Given the description of an element on the screen output the (x, y) to click on. 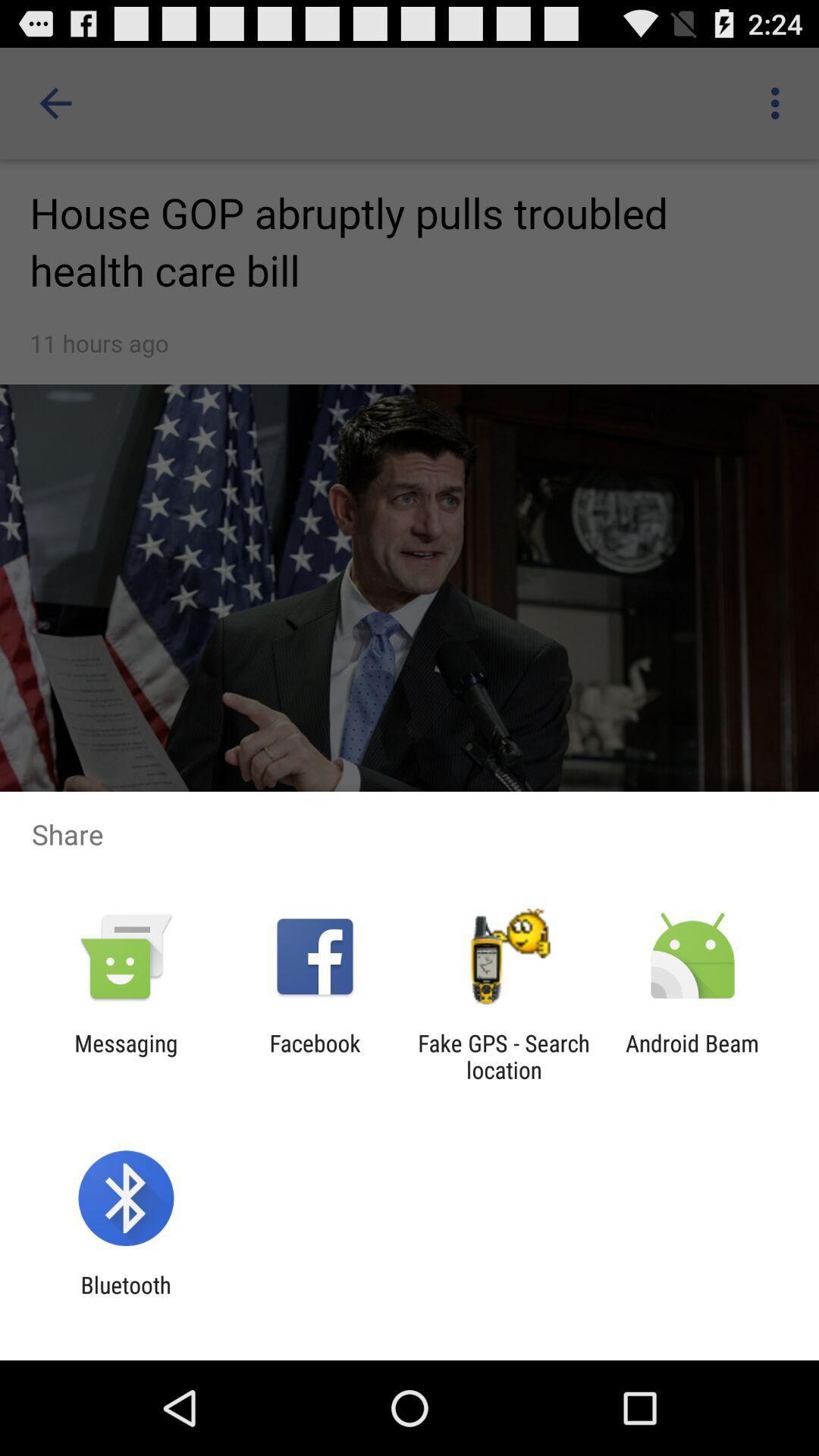
choose the icon to the left of android beam app (503, 1056)
